Given the description of an element on the screen output the (x, y) to click on. 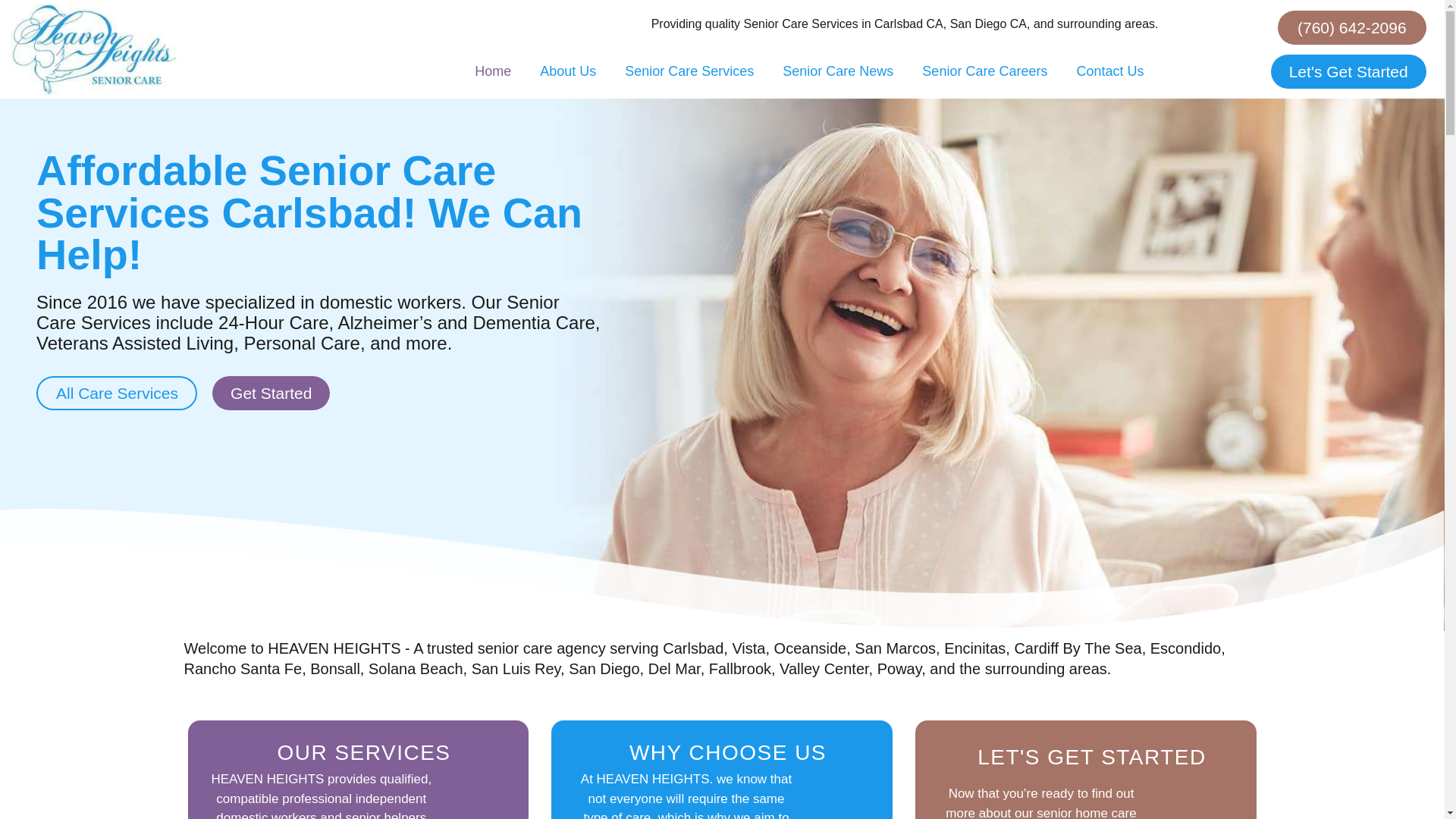
Get Started (271, 392)
All Care Services (116, 392)
Let's Get Started (1348, 71)
About Us (567, 70)
Home (492, 70)
Contact Us (1109, 70)
Senior Care Careers (984, 70)
Senior Care Services (689, 70)
Senior Care News (837, 70)
